Given the description of an element on the screen output the (x, y) to click on. 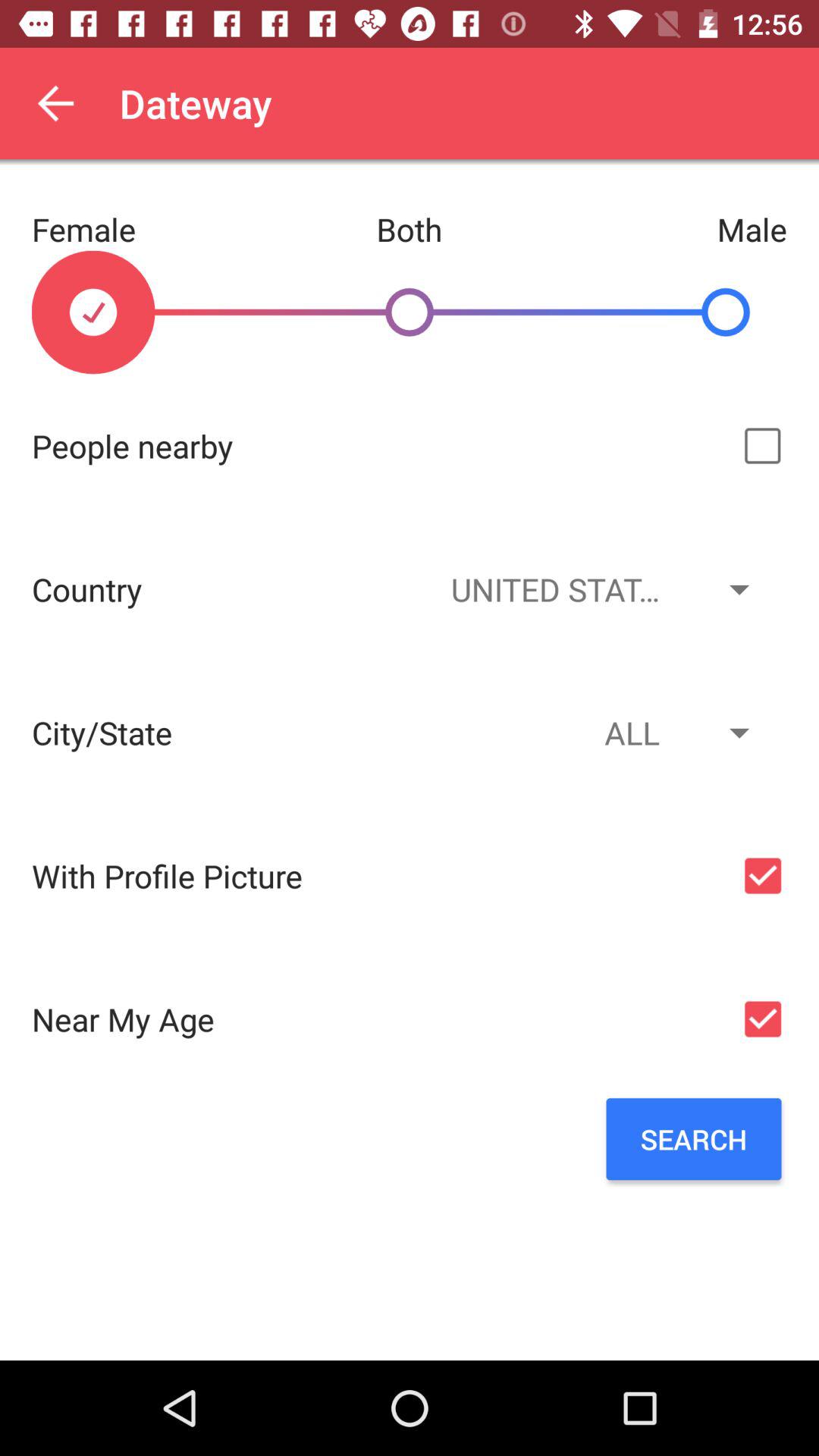
go to previous (55, 103)
